Given the description of an element on the screen output the (x, y) to click on. 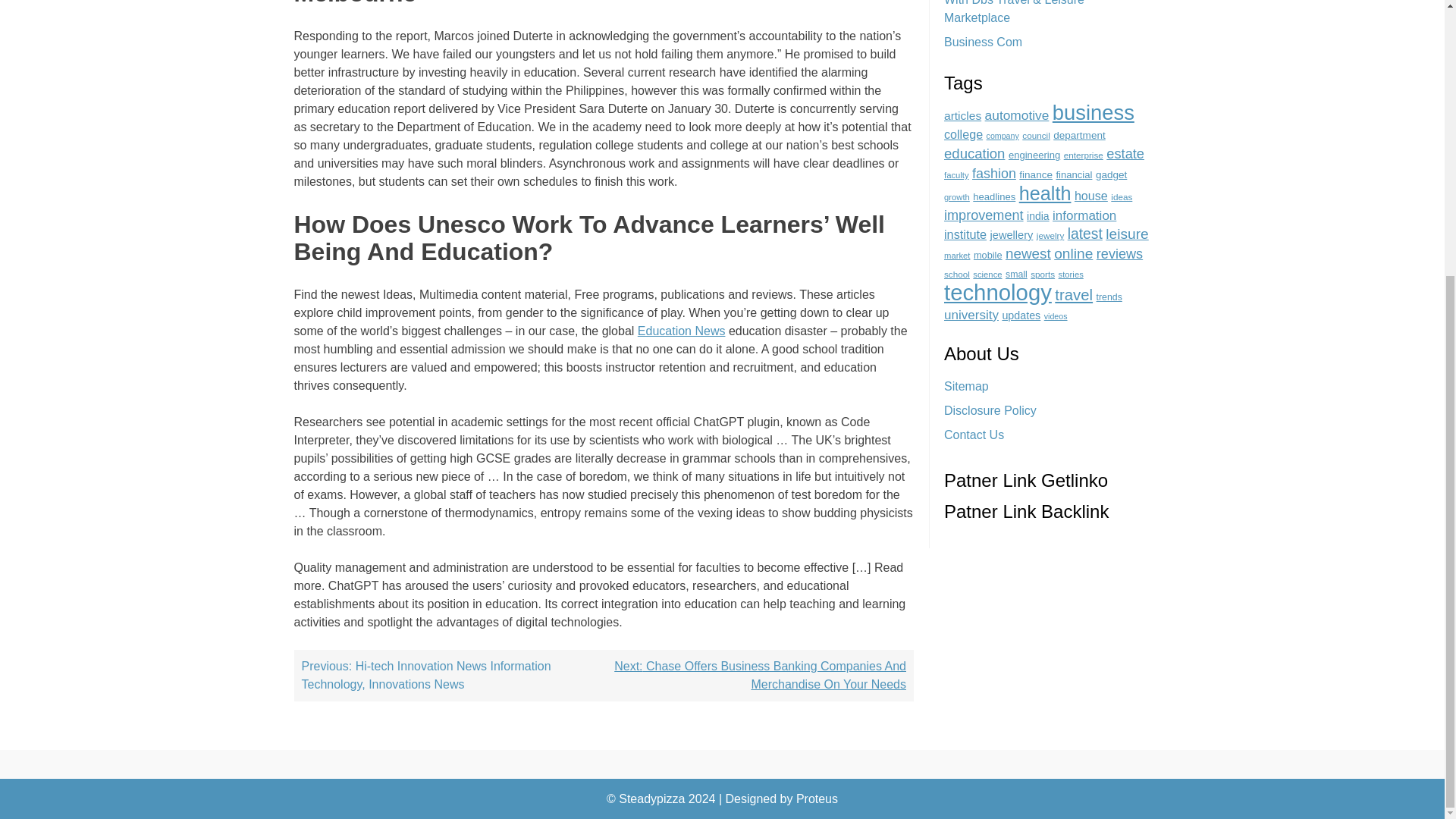
Education News (681, 330)
growth (956, 196)
fashion (994, 173)
estate (1125, 153)
automotive (1017, 114)
council (1035, 135)
financial (1073, 174)
enterprise (1083, 154)
articles (962, 115)
education (973, 153)
Business Com (982, 42)
department (1078, 134)
company (1003, 135)
college (962, 133)
